Given the description of an element on the screen output the (x, y) to click on. 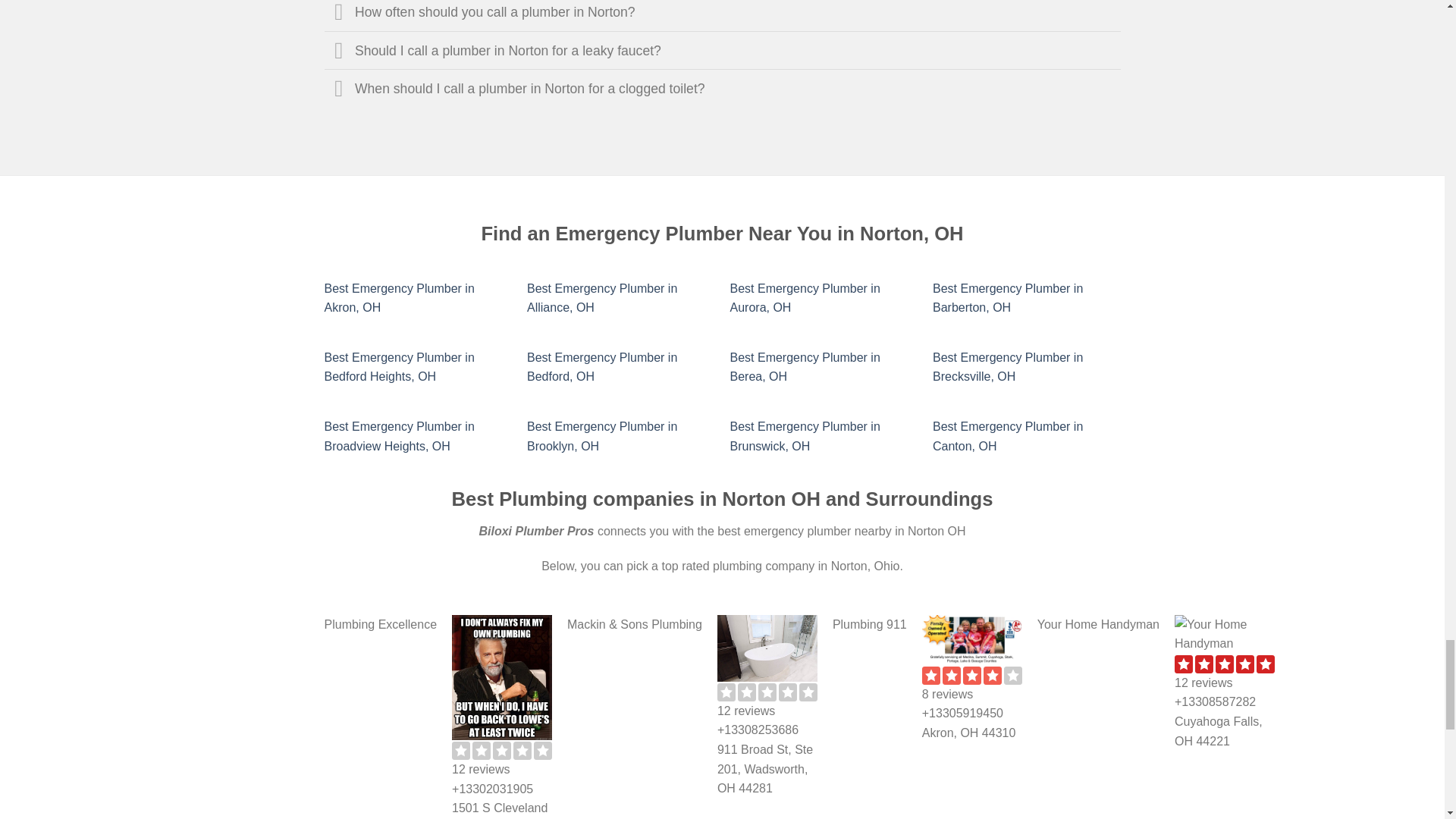
Best Emergency Plumber in Canton, OH (1008, 436)
Best Emergency Plumber in Brooklyn, OH (602, 436)
Best Emergency Plumber in Akron, OH (399, 297)
Best Emergency Plumber in Bedford, OH (602, 367)
Best Emergency Plumber in Aurora, OH (804, 297)
Best Emergency Plumber in Brecksville, OH (1008, 367)
Best Emergency Plumber in Alliance, OH (602, 297)
Best Emergency Plumber in Bedford Heights, OH (399, 367)
Best Emergency Plumber in Broadview Heights, OH (399, 436)
Best Emergency Plumber in Barberton, OH (1008, 297)
